Given the description of an element on the screen output the (x, y) to click on. 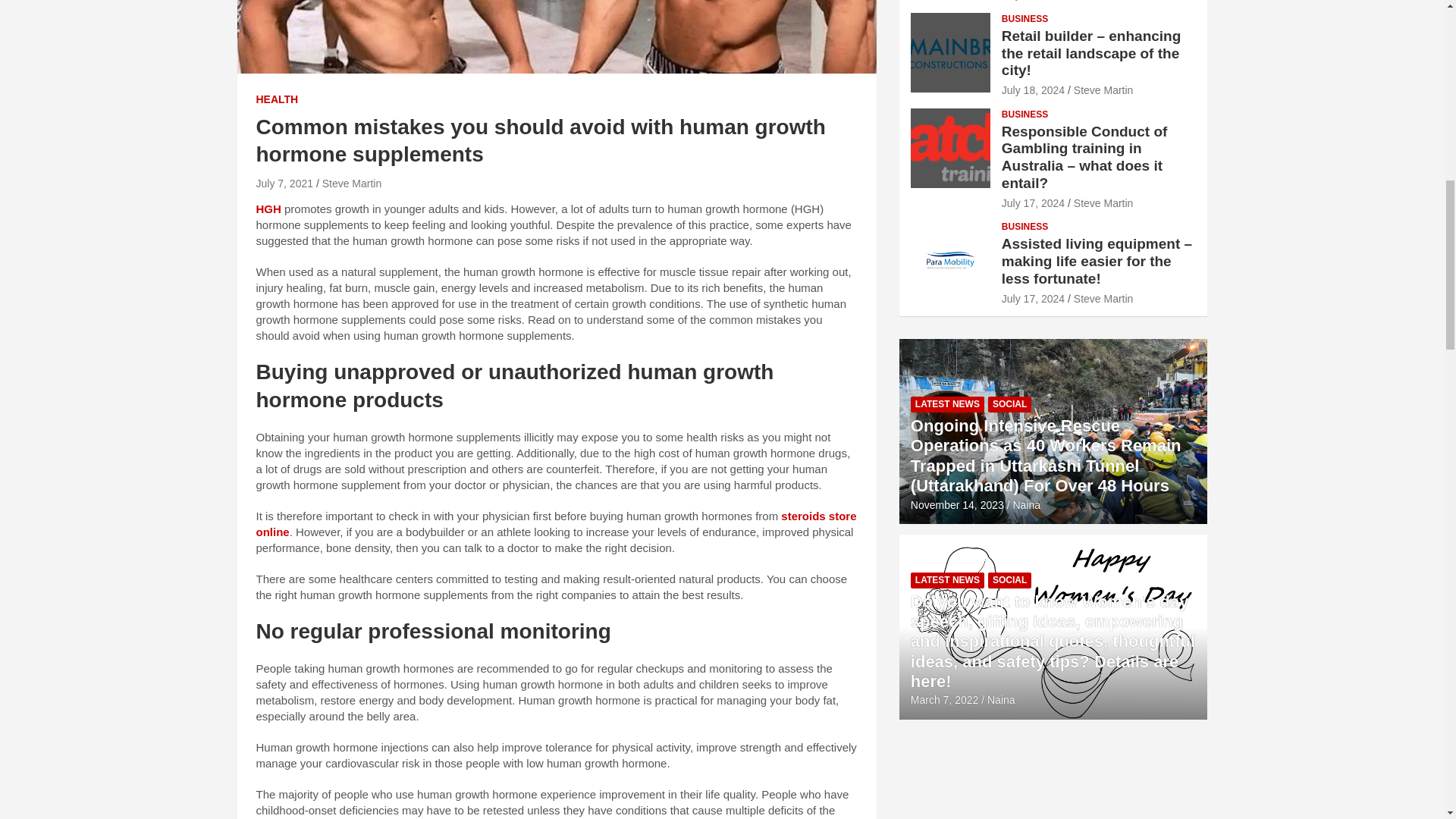
July 7, 2021 (285, 183)
Steve Martin (351, 183)
steroids store online (556, 523)
HEALTH (277, 99)
HGH (268, 208)
